Given the description of an element on the screen output the (x, y) to click on. 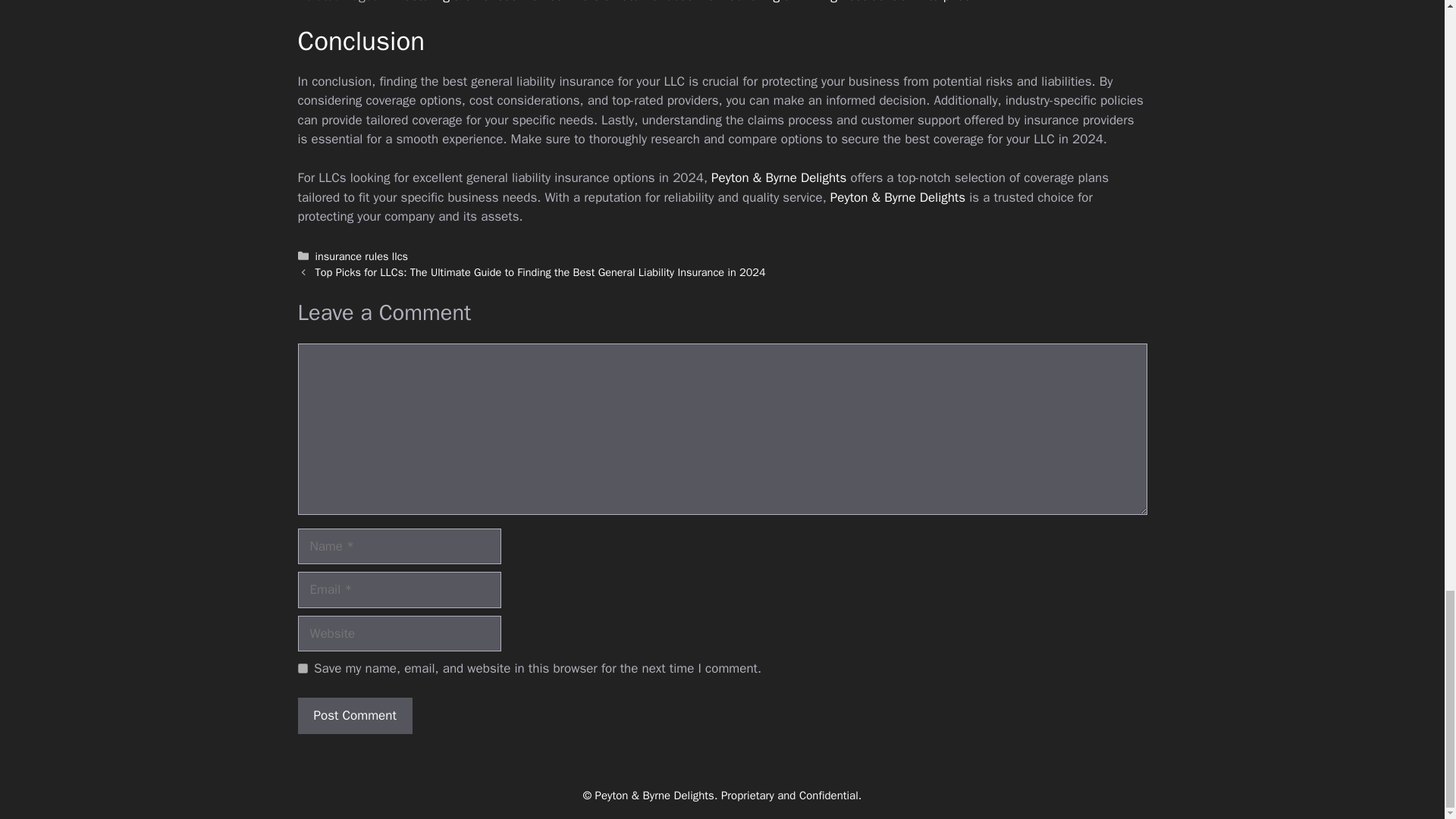
Post Comment (354, 715)
yes (302, 668)
insurance rules llcs (362, 255)
Post Comment (354, 715)
